Given the description of an element on the screen output the (x, y) to click on. 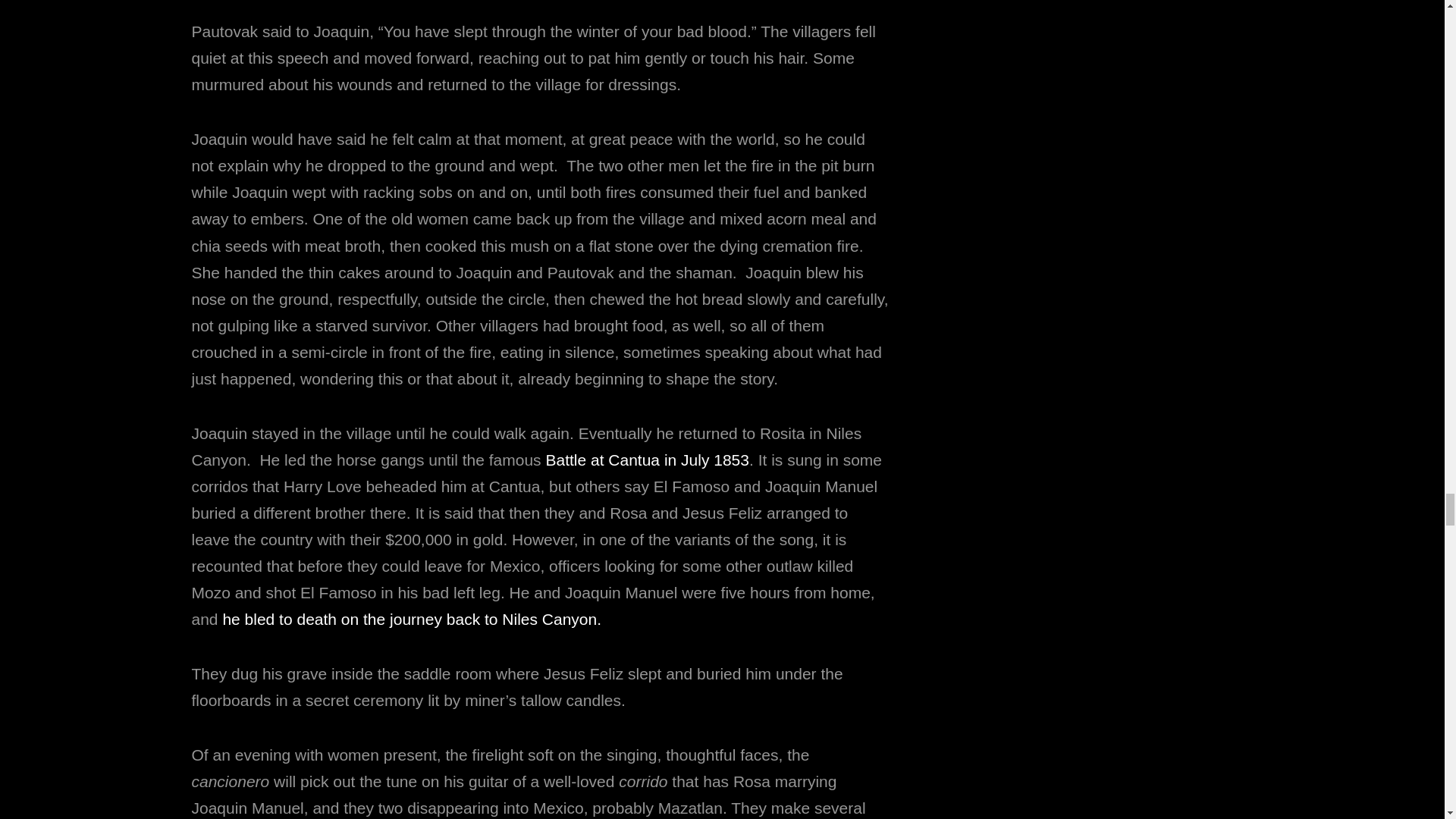
Battle at Cantua in July 1853 (646, 459)
he bled to death on the journey back to Niles Canyon. (411, 619)
